Given the description of an element on the screen output the (x, y) to click on. 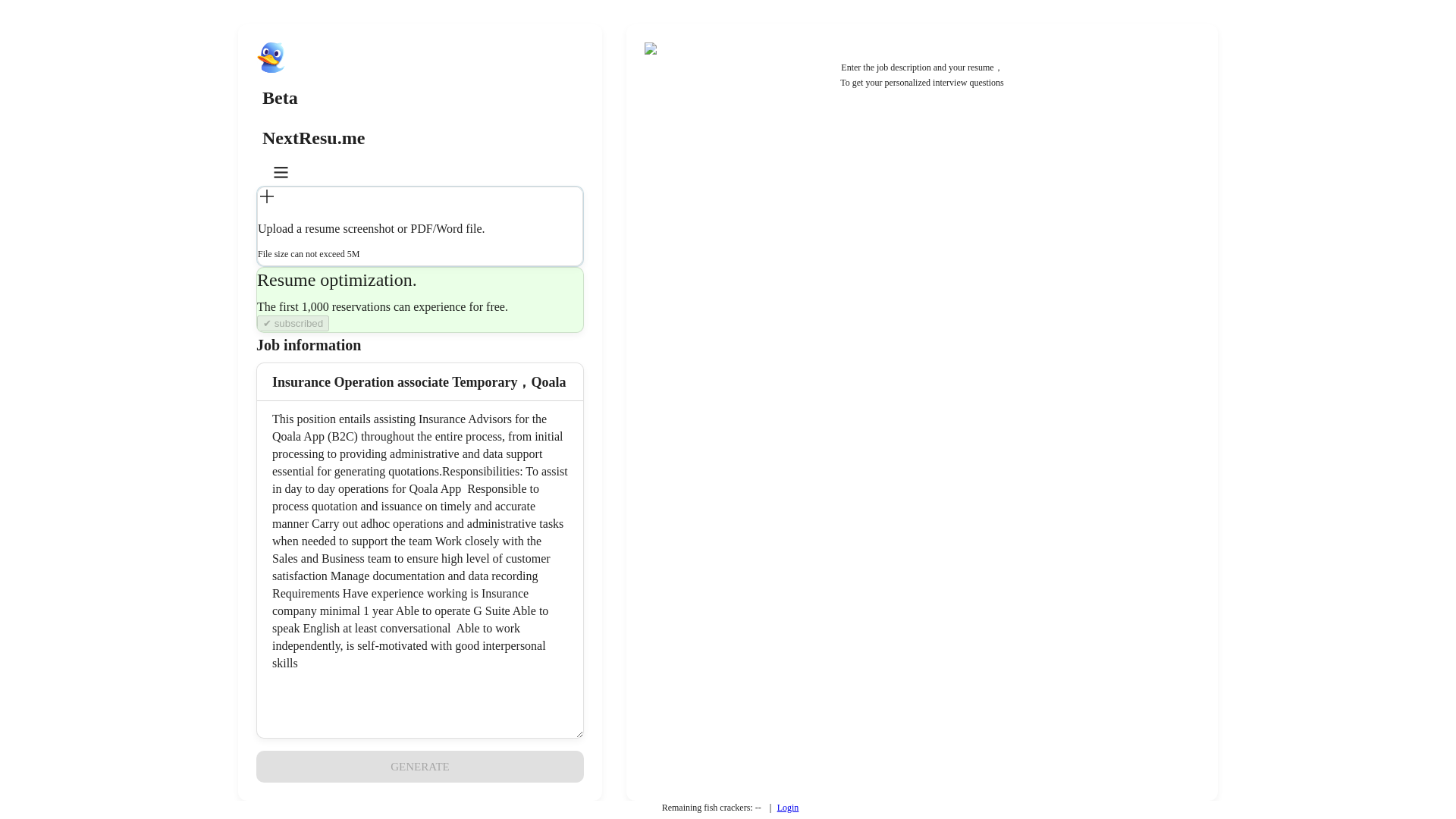
GENERATE (419, 766)
Remaining fish crackers: -- (711, 807)
Login (788, 807)
